Given the description of an element on the screen output the (x, y) to click on. 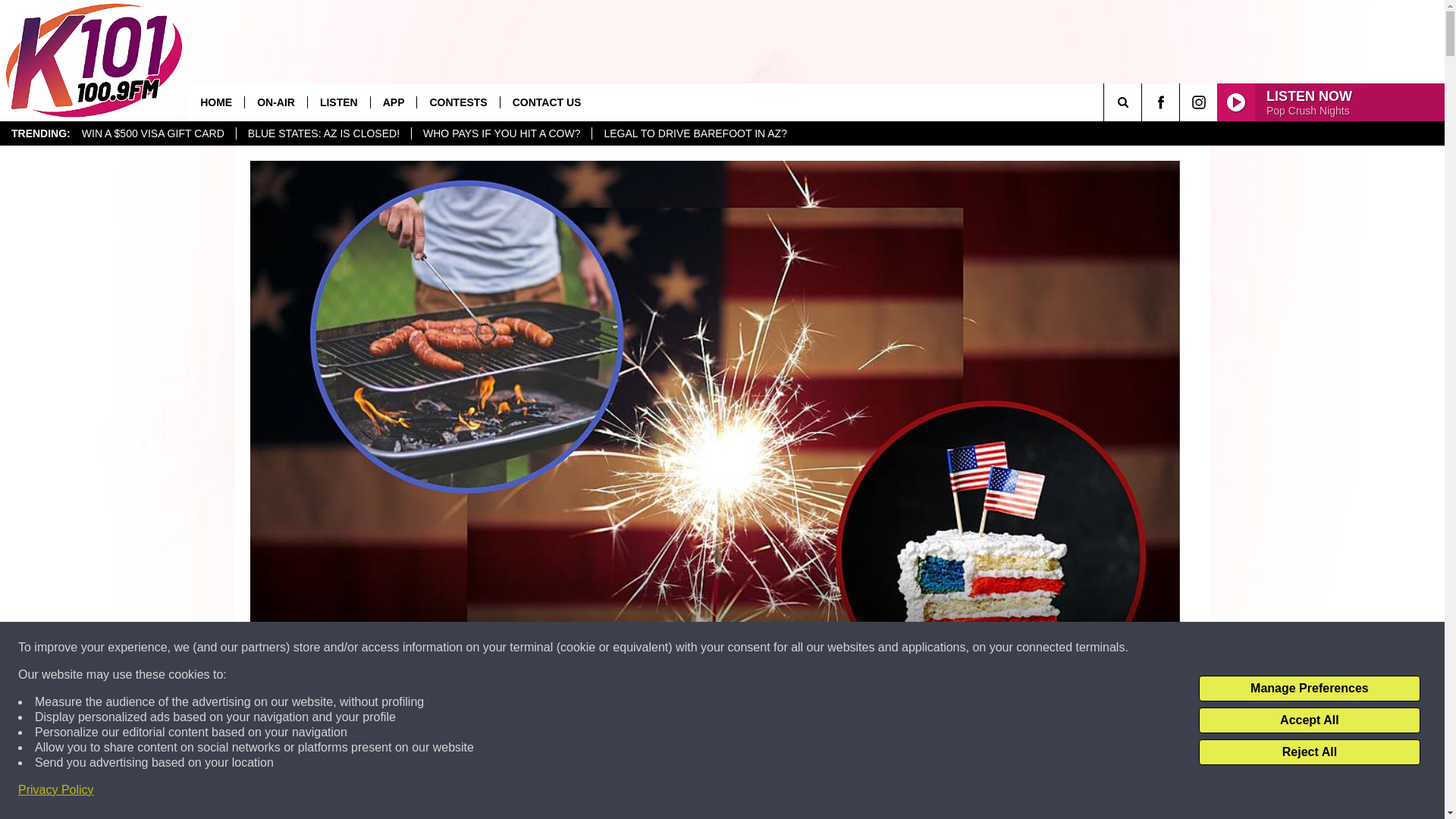
CONTACT US (546, 102)
LEGAL TO DRIVE BAREFOOT IN AZ? (694, 133)
SEARCH (1144, 102)
BLUE STATES: AZ IS CLOSED! (322, 133)
Privacy Policy (55, 789)
SEARCH (1144, 102)
APP (392, 102)
ON-AIR (275, 102)
HOME (215, 102)
CONTESTS (457, 102)
WHO PAYS IF YOU HIT A COW? (500, 133)
Share on Facebook (714, 791)
Manage Preferences (1309, 688)
LISTEN (338, 102)
Reject All (1309, 751)
